Given the description of an element on the screen output the (x, y) to click on. 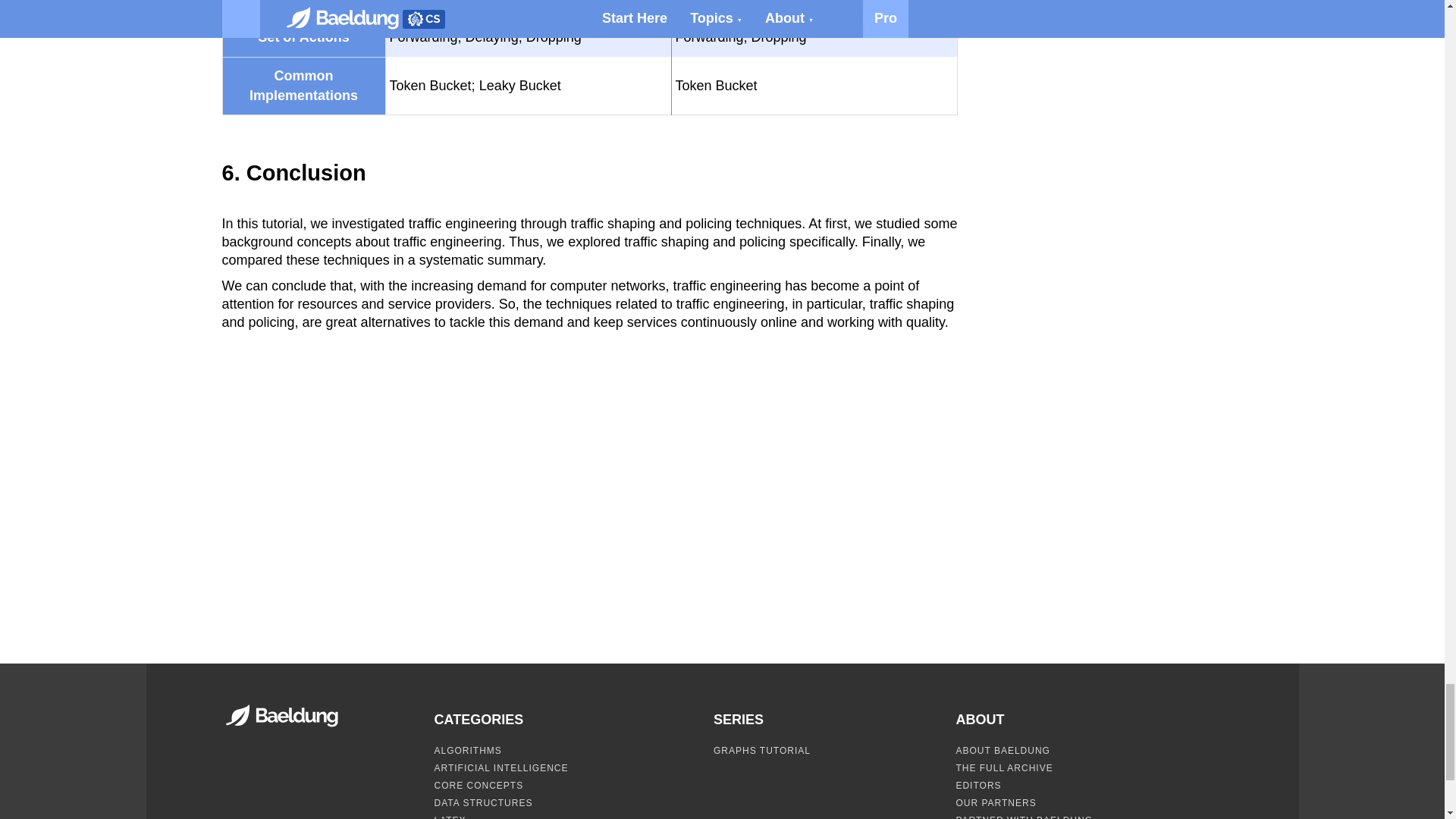
CORE CONCEPTS (477, 785)
GRAPHS TUTORIAL (761, 750)
DATA STRUCTURES (482, 802)
ARTIFICIAL INTELLIGENCE (500, 767)
LATEX (449, 816)
ALGORITHMS (466, 750)
